Given the description of an element on the screen output the (x, y) to click on. 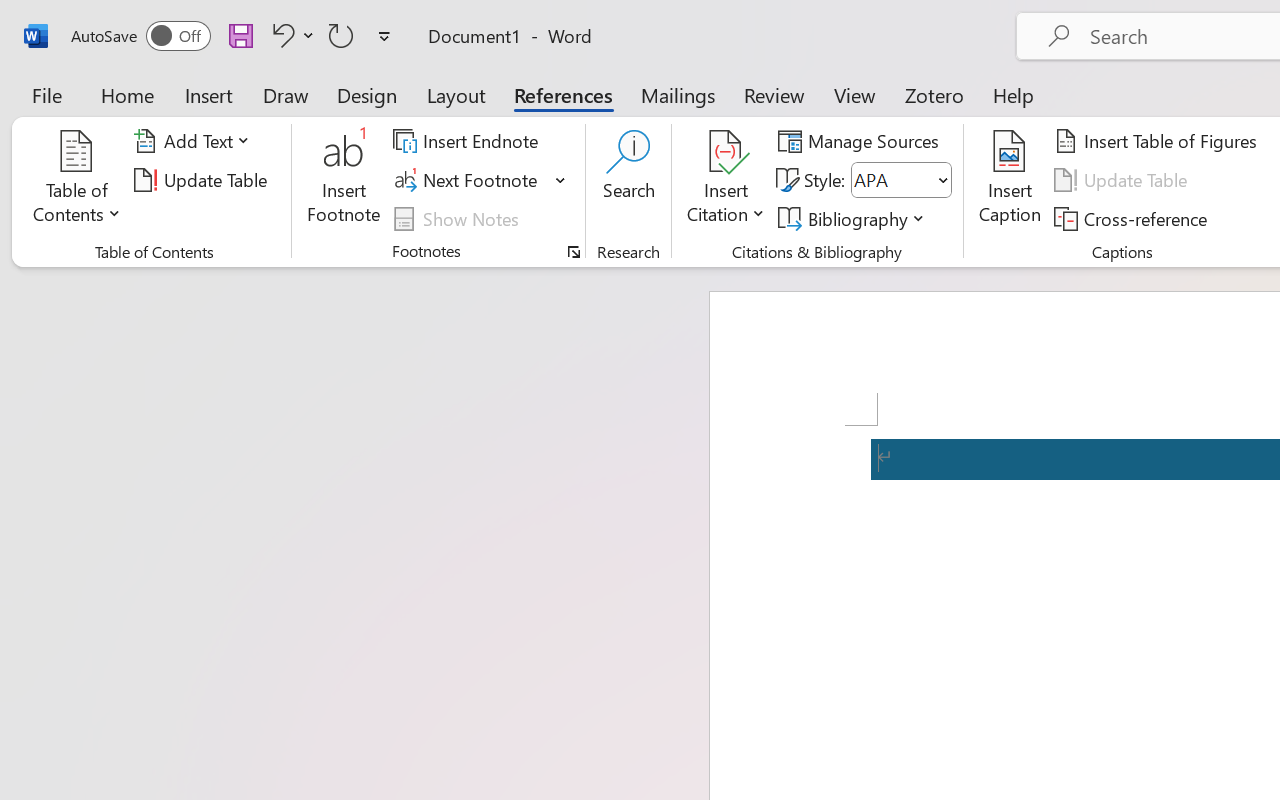
Undo Apply Quick Style Set (280, 35)
Bibliography (854, 218)
Insert Citation (726, 179)
Repeat Accessibility Checker (341, 35)
Update Table (1124, 179)
Table of Contents (77, 179)
Insert Table of Figures... (1158, 141)
